Given the description of an element on the screen output the (x, y) to click on. 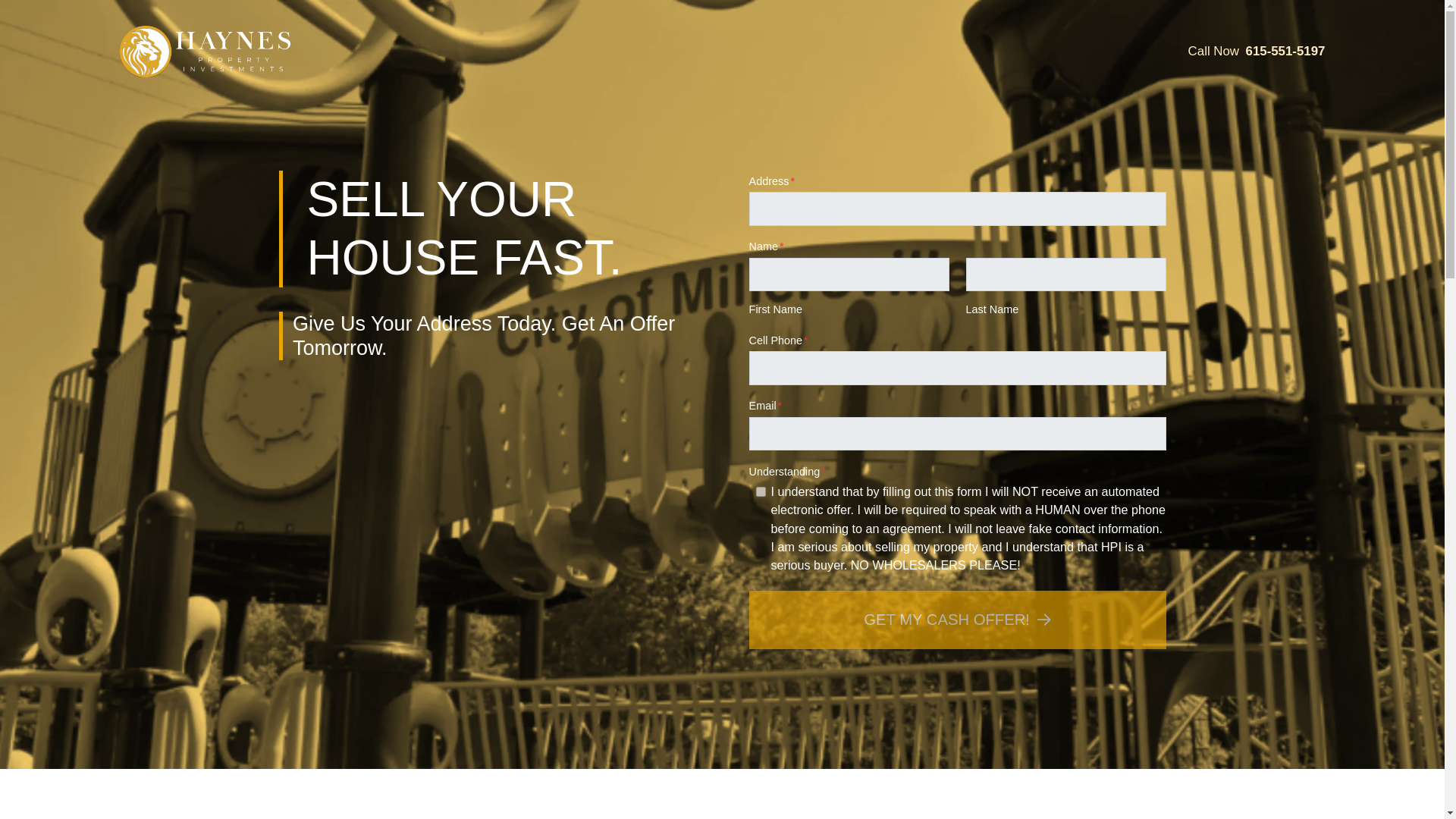
GET MY CASH OFFER! (957, 619)
